Given the description of an element on the screen output the (x, y) to click on. 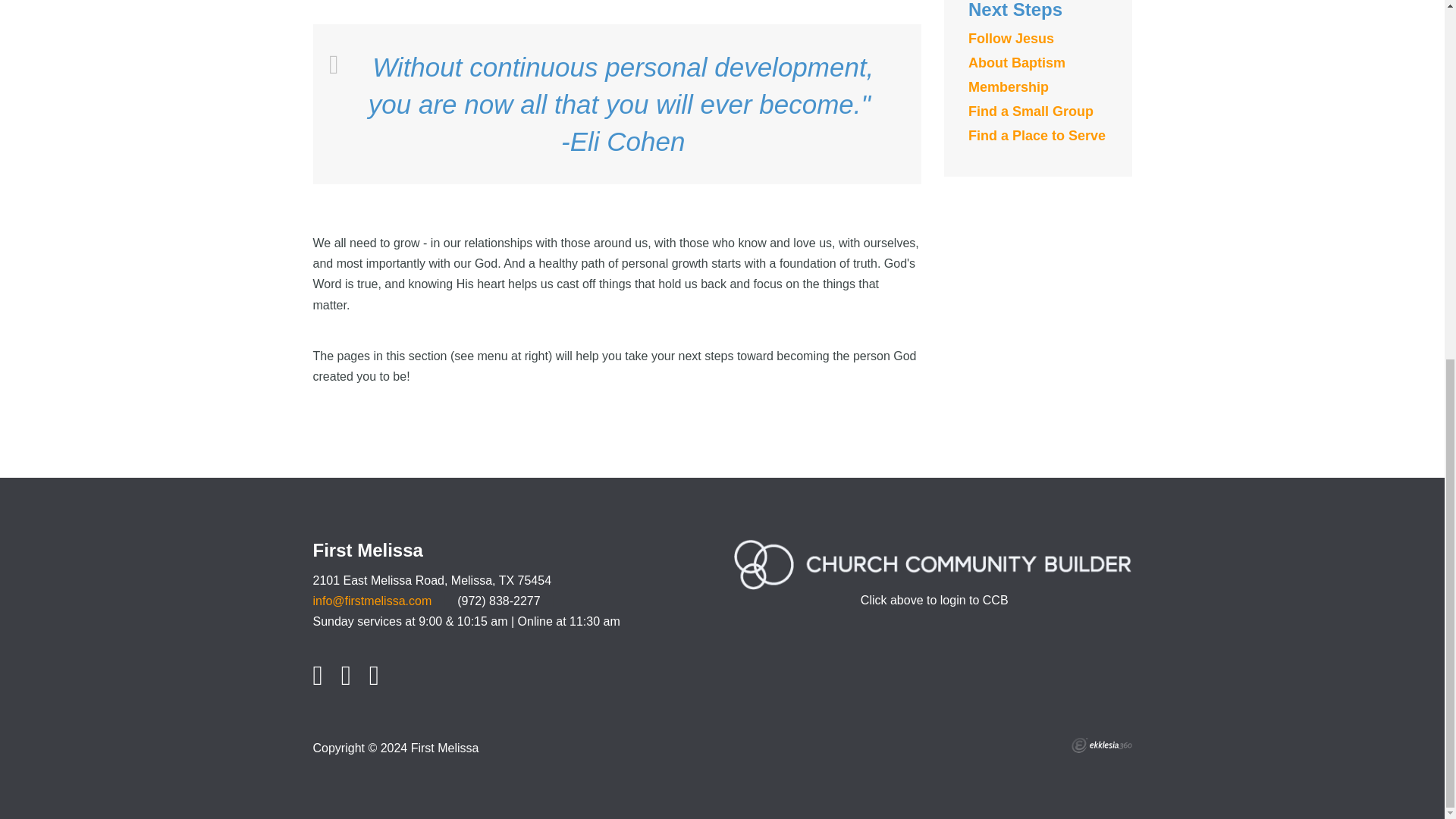
CCB Login (932, 572)
